Given the description of an element on the screen output the (x, y) to click on. 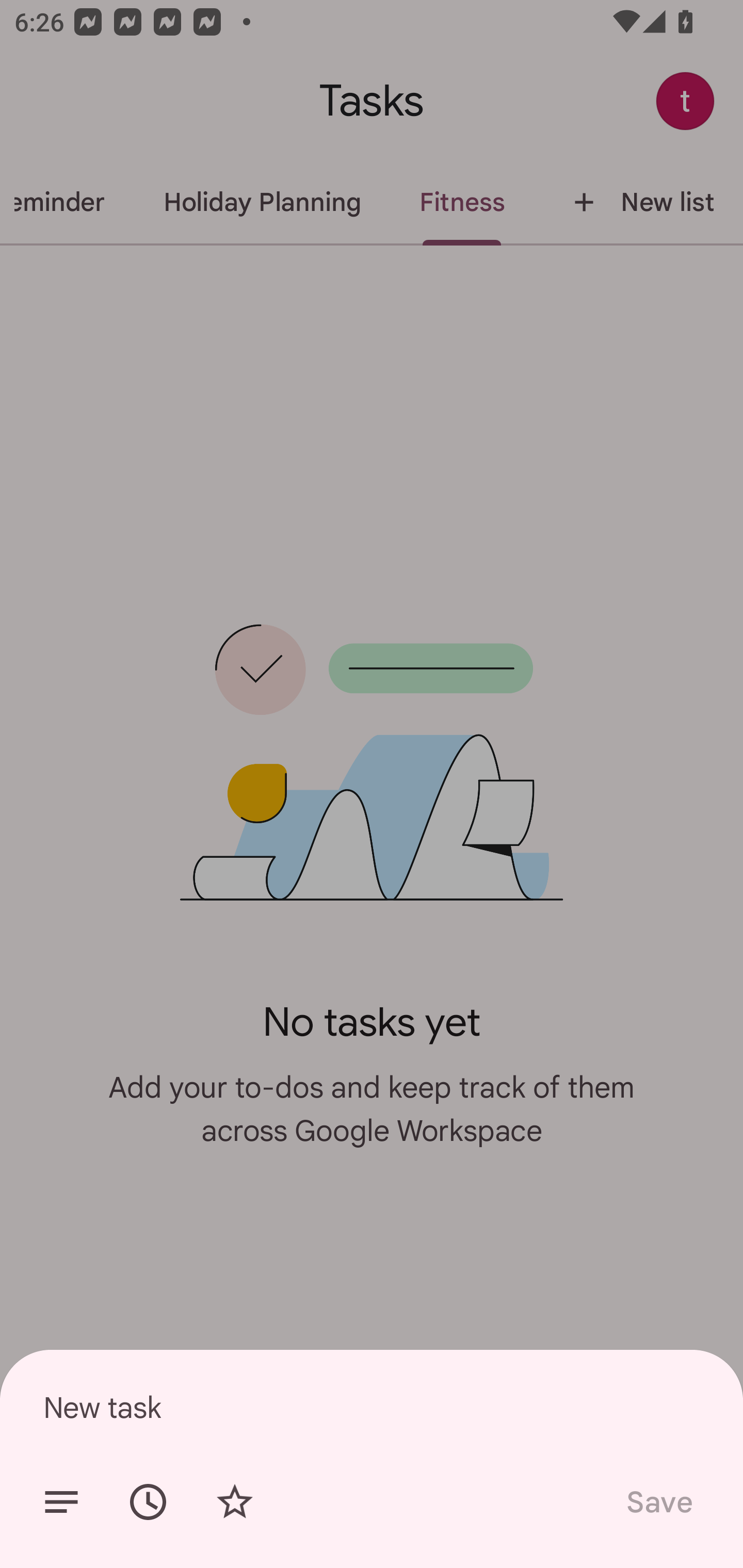
New task (371, 1407)
Save (659, 1501)
Add details (60, 1501)
Set date/time (147, 1501)
Add star (234, 1501)
